Given the description of an element on the screen output the (x, y) to click on. 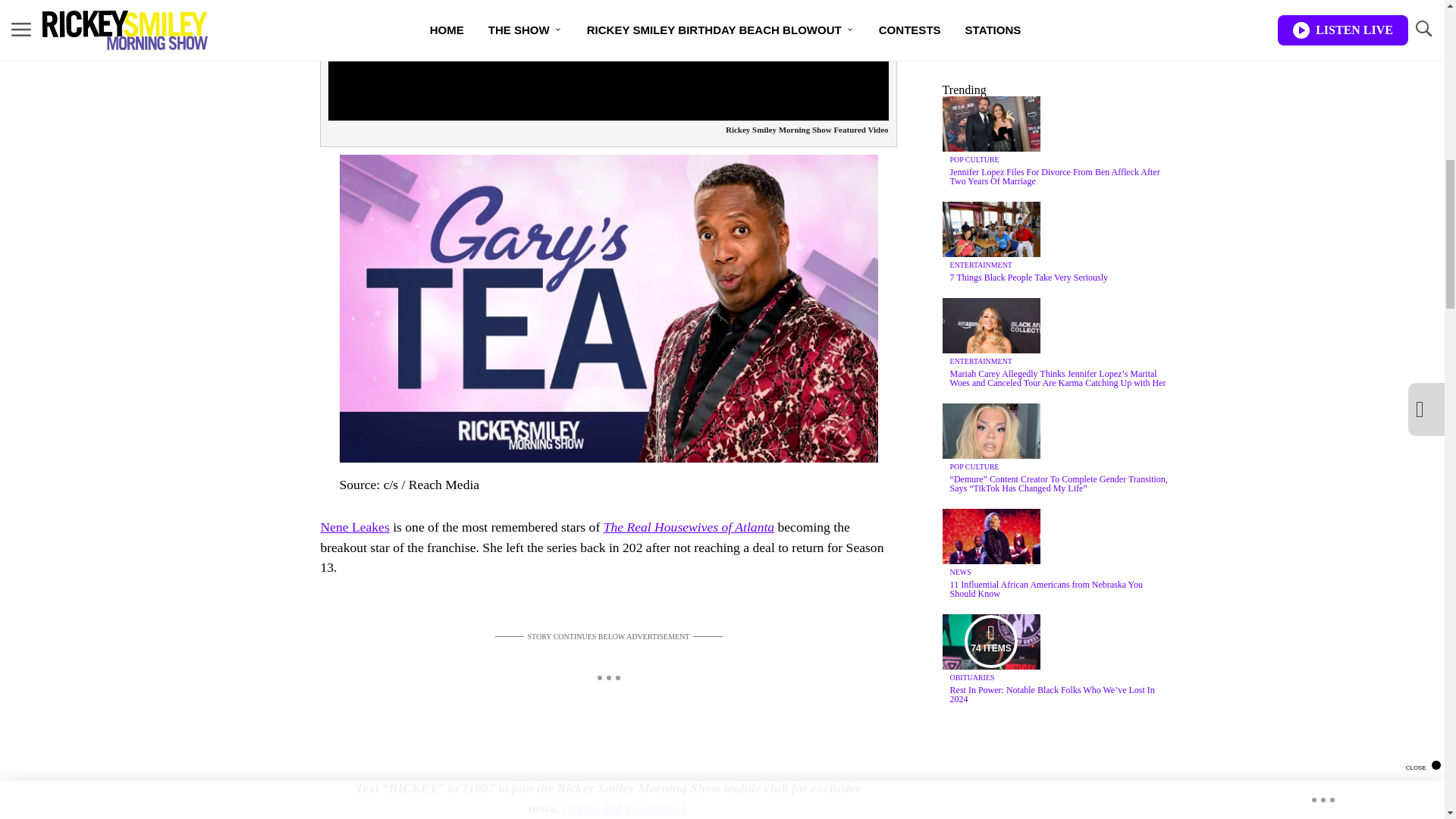
Media Playlist (990, 641)
3rd party ad content (607, 680)
The Real Housewives of Atlanta (689, 526)
Terms and conditions (623, 807)
3rd party ad content (1056, 13)
Nene Leakes (354, 526)
